Given the description of an element on the screen output the (x, y) to click on. 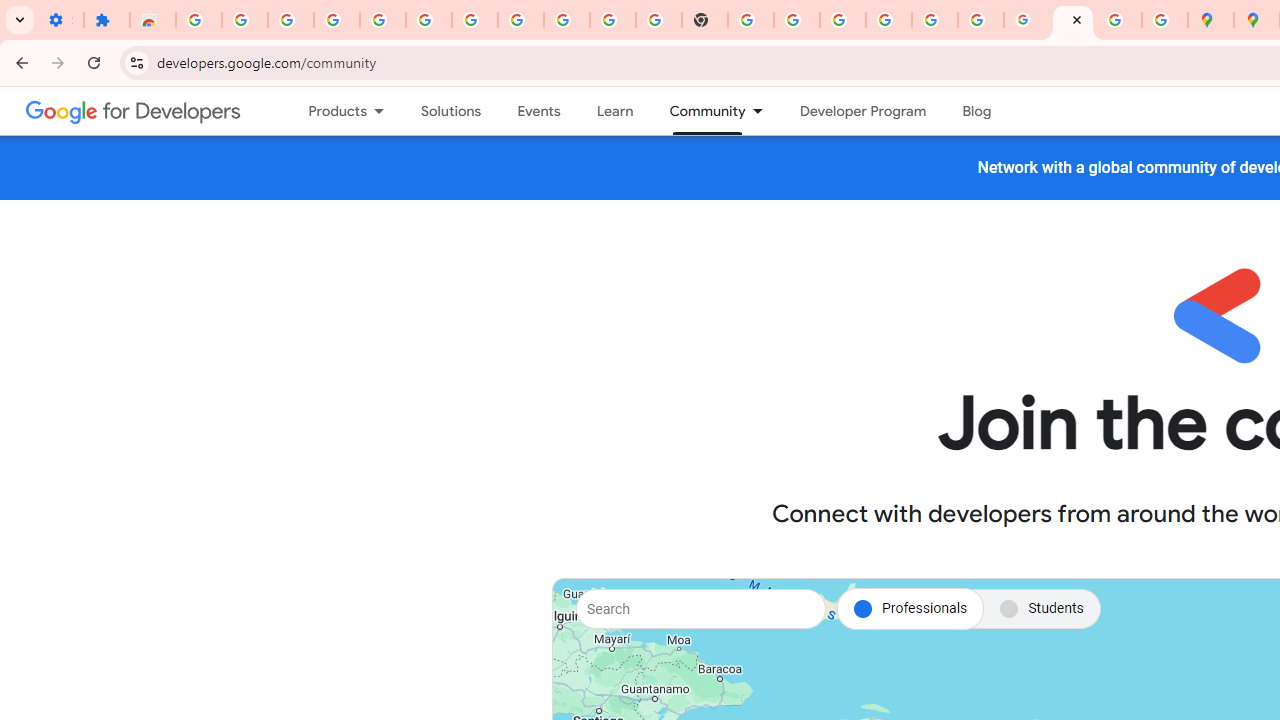
Dropdown menu for Community (763, 111)
https://scholar.google.com/ (751, 20)
Community, selected (698, 111)
Safety in Our Products - Google Safety Center (1164, 20)
Learning Catalog (614, 111)
View site information (136, 62)
Sign in - Google Accounts (474, 20)
Solutions (451, 111)
System (10, 11)
